Given the description of an element on the screen output the (x, y) to click on. 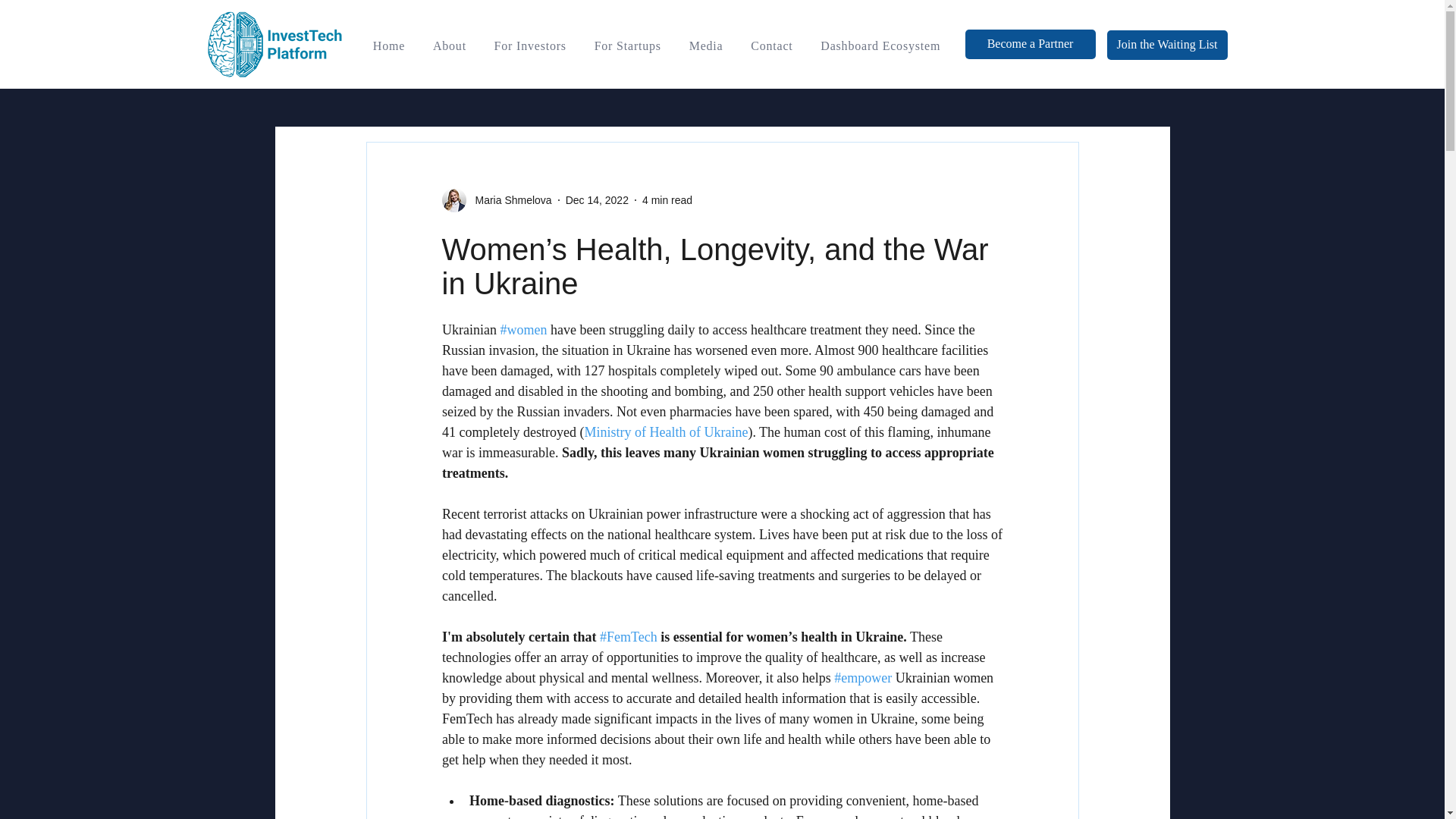
Home (389, 45)
Dec 14, 2022 (597, 200)
Become a Partner (1028, 43)
Dashboard Ecosystem (880, 45)
For Startups (627, 45)
About (449, 45)
Maria Shmelova (508, 200)
Contact (771, 45)
Ministry of Health of Ukraine (665, 432)
4 min read (667, 200)
Join the Waiting List (1166, 44)
Media (705, 45)
For Investors (529, 45)
